Given the description of an element on the screen output the (x, y) to click on. 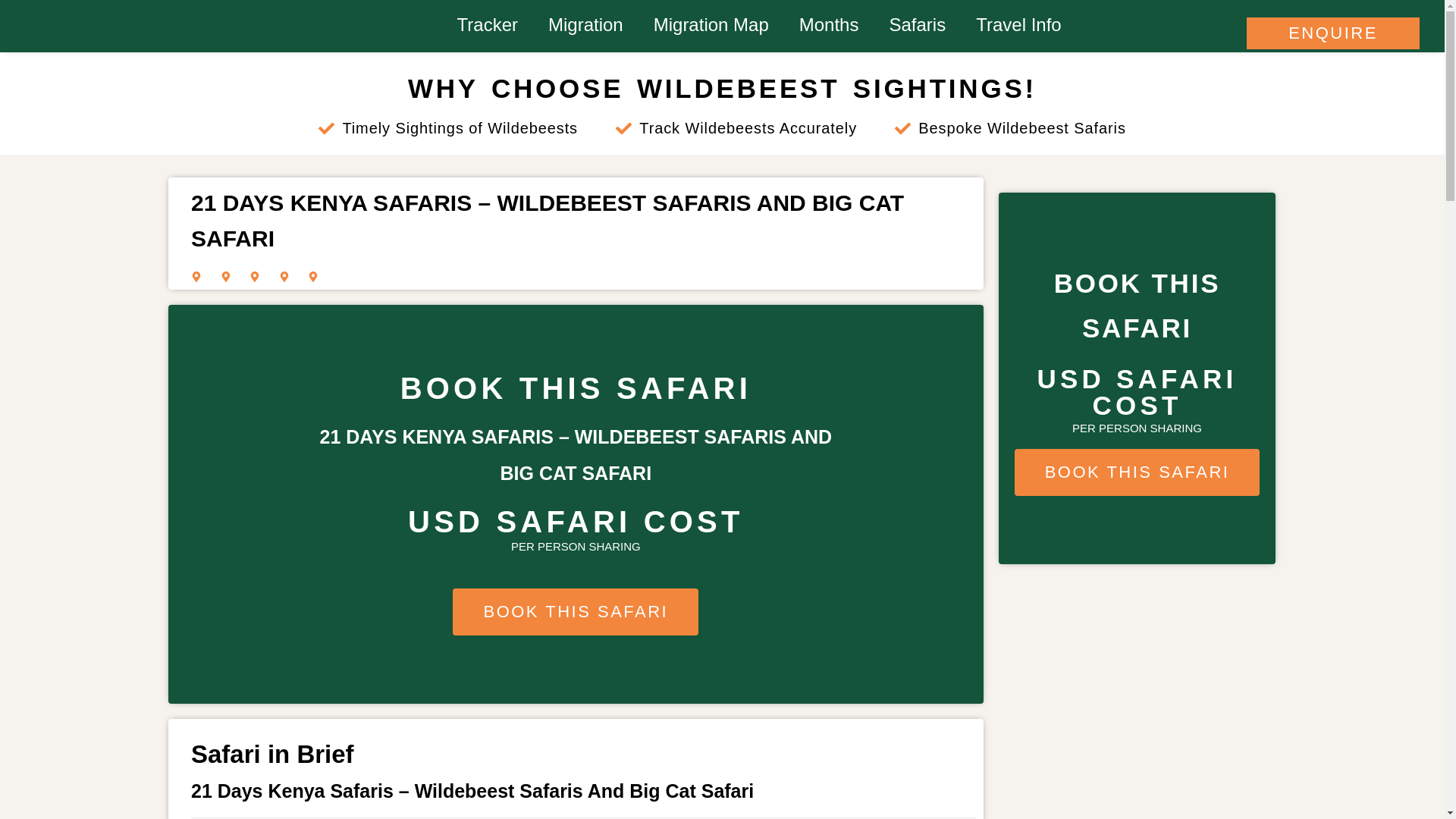
Months (829, 24)
Migration Map (711, 24)
Travel Info (1018, 24)
Tracker (487, 24)
Safaris (916, 24)
Migration (585, 24)
